Given the description of an element on the screen output the (x, y) to click on. 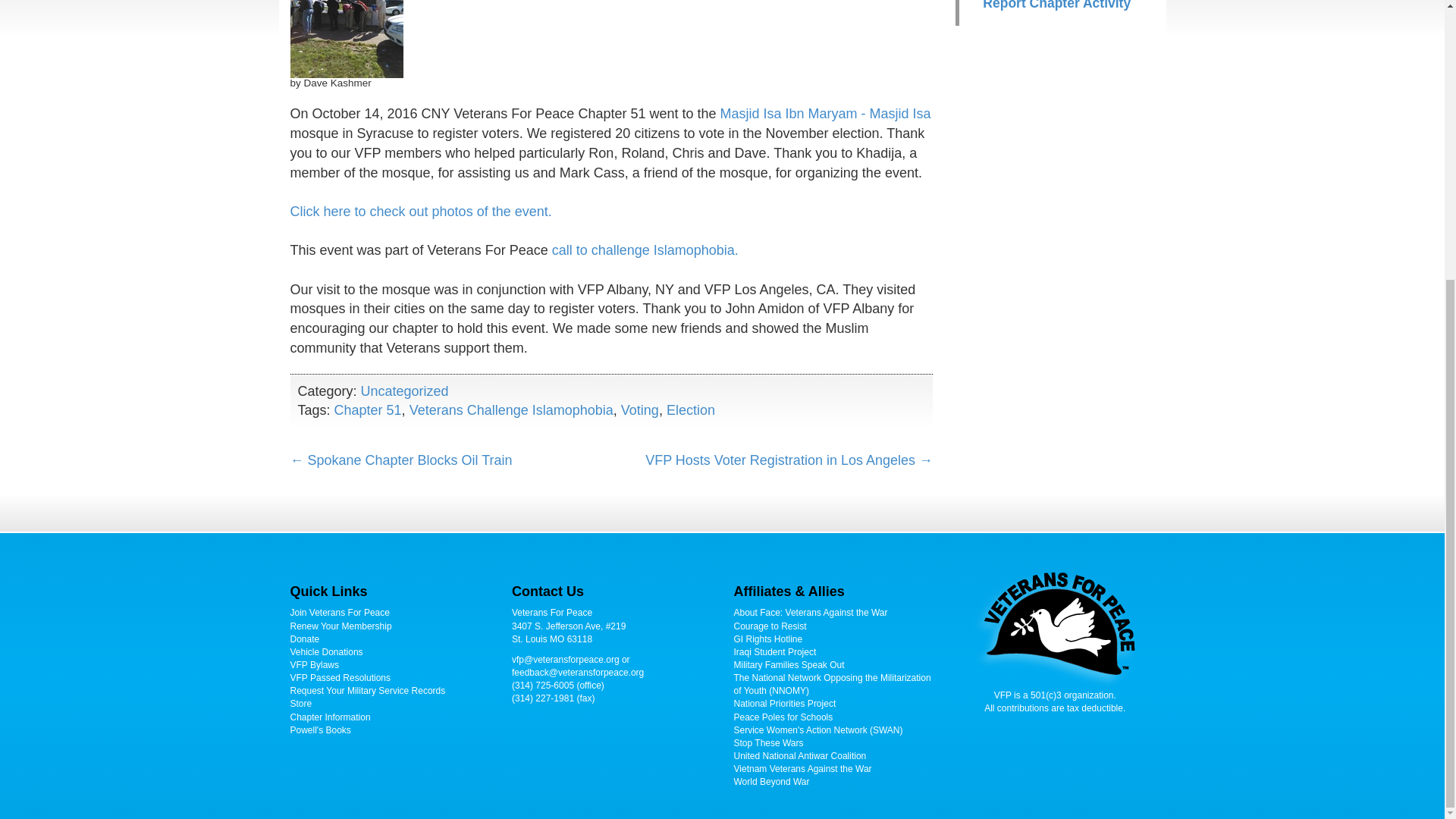
Join Veterans For Peace or Renew Your Membership! (340, 625)
Donate to Veterans For Peace (303, 638)
Join Veterans For Peace (338, 612)
Chapters (329, 716)
